Given the description of an element on the screen output the (x, y) to click on. 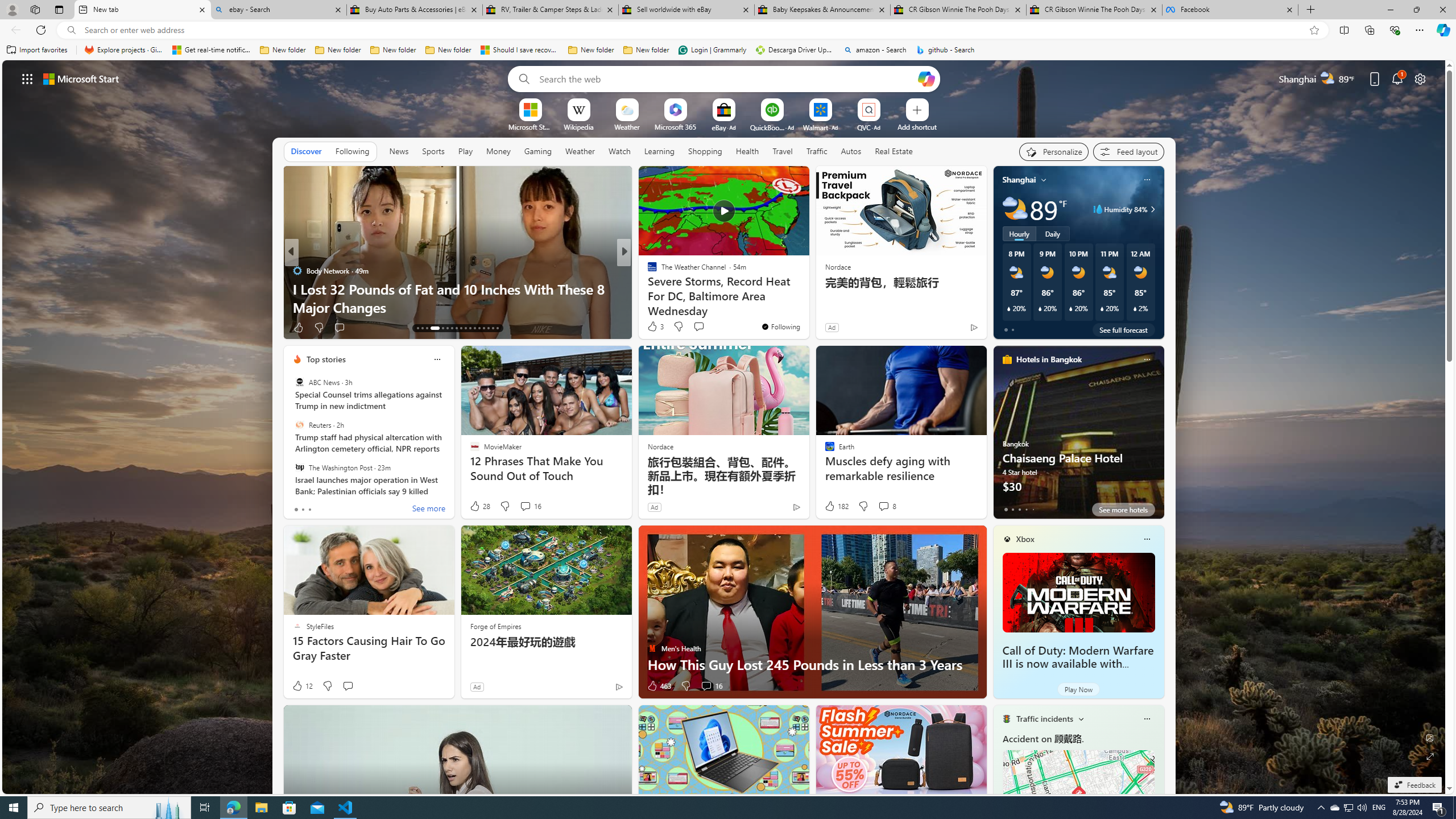
View comments 1 Comment (705, 327)
How to get rid of body odor, according to medical experts (807, 298)
See full forecast (1123, 329)
See more (428, 509)
Special Personal Offer (807, 307)
tab-4 (1032, 509)
AutomationID: tab-18 (446, 328)
The History of the Windows Start Menu (807, 307)
Ad (476, 686)
138 Like (304, 327)
